Given the description of an element on the screen output the (x, y) to click on. 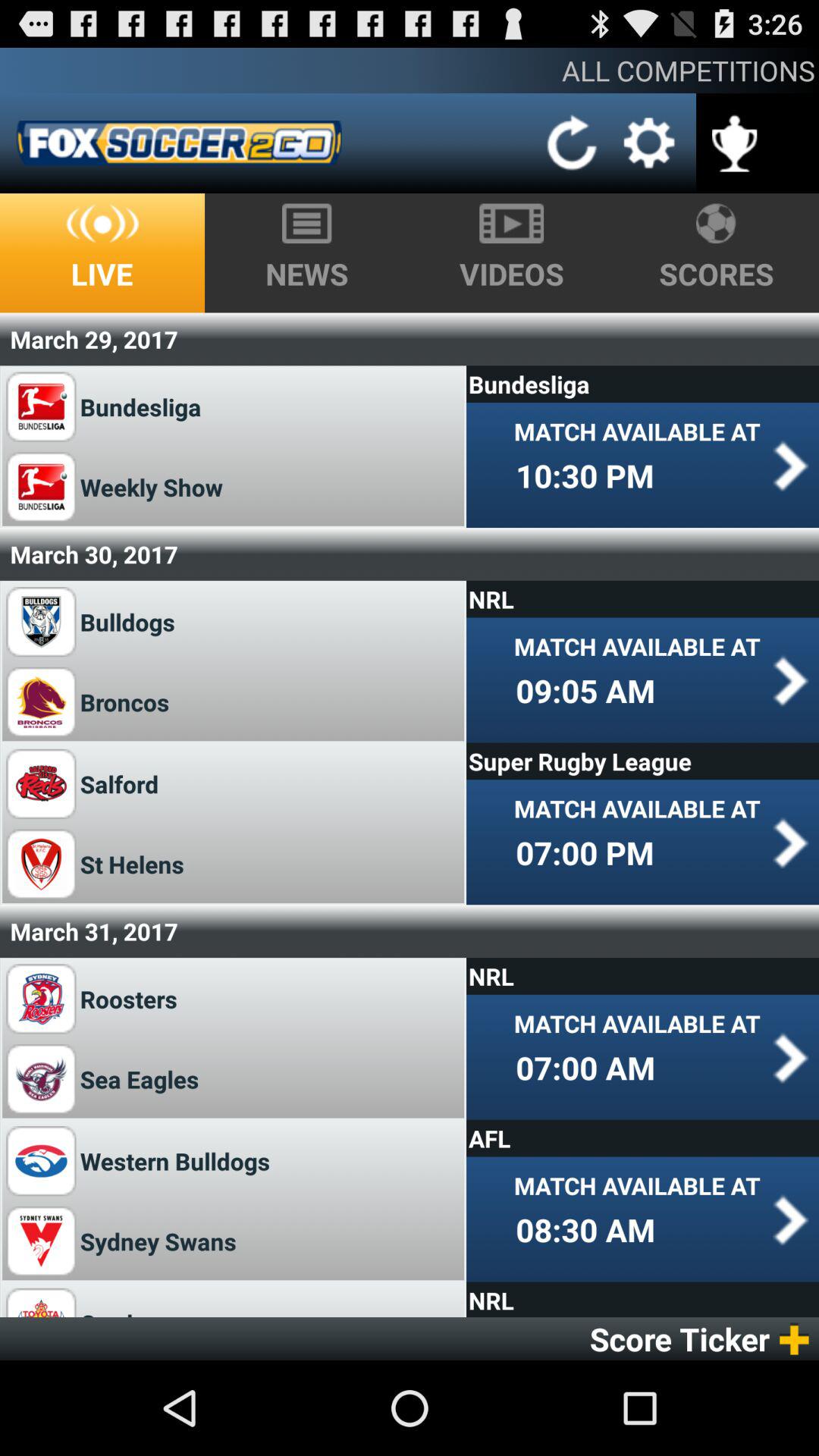
select the app to the right of western bulldogs app (642, 1137)
